Given the description of an element on the screen output the (x, y) to click on. 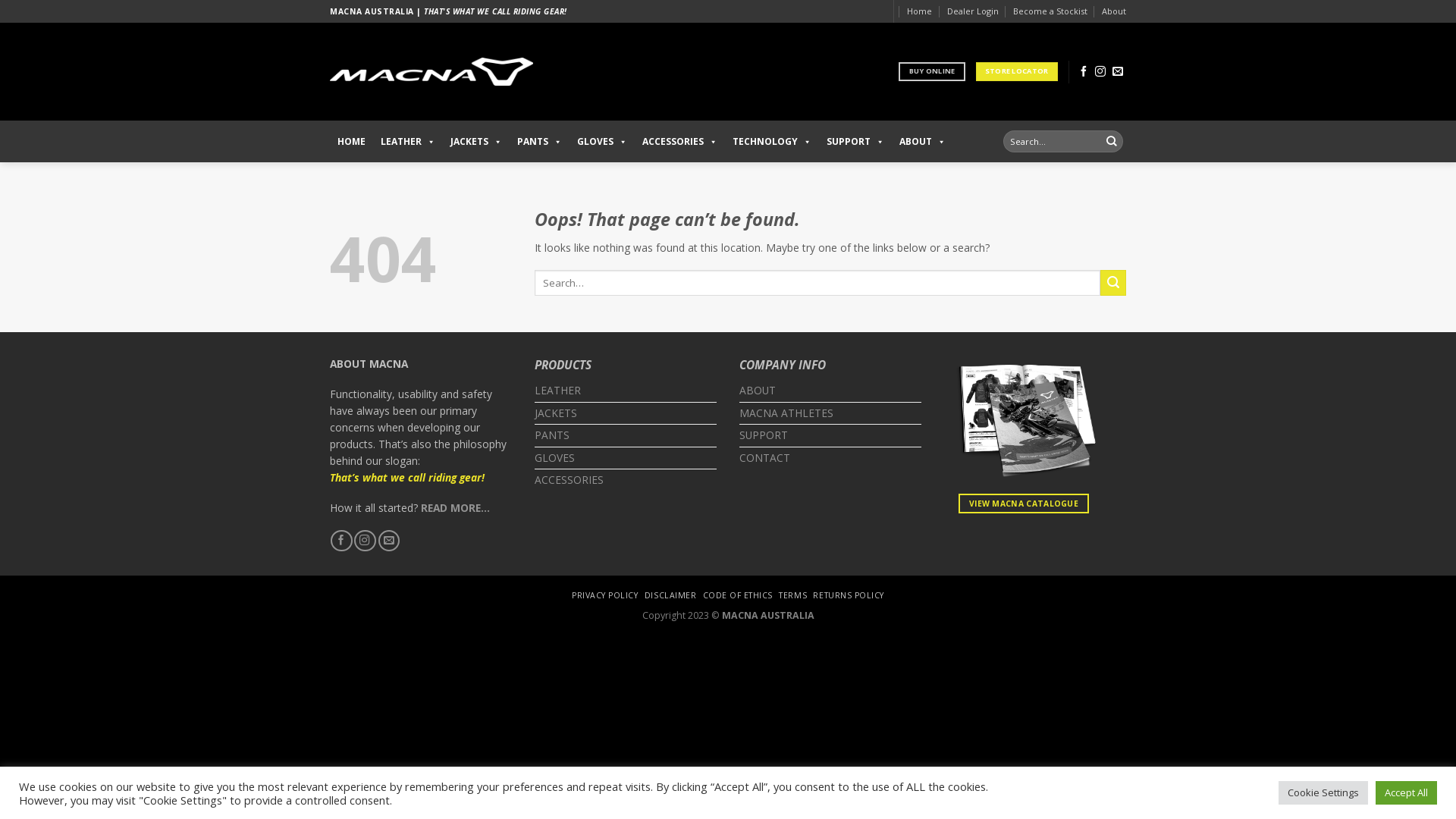
DISCLAIMER Element type: text (670, 594)
ABOUT Element type: text (922, 140)
SUPPORT Element type: text (763, 435)
Follow on Facebook Element type: hover (1083, 71)
VIEW MACNA CATALOGUE Element type: text (1023, 503)
PRIVACY POLICY Element type: text (604, 594)
Become a Stockist Element type: text (1050, 10)
CODE OF ETHICS Element type: text (737, 594)
ABOUT Element type: text (757, 390)
Send us an email Element type: hover (388, 541)
ACCESSORIES Element type: text (679, 140)
JACKETS Element type: text (555, 413)
GLOVES Element type: text (601, 140)
Send us an email Element type: hover (1117, 71)
HOME Element type: text (351, 140)
BUY ONLINE Element type: text (931, 71)
LEATHER Element type: text (557, 390)
Accept All Element type: text (1406, 792)
PANTS Element type: text (551, 435)
Follow on Instagram Element type: hover (364, 541)
SUPPORT Element type: text (855, 140)
JACKETS Element type: text (475, 140)
Cookie Settings Element type: text (1323, 792)
LEATHER Element type: text (407, 140)
GLOVES Element type: text (554, 458)
RETURNS POLICY Element type: text (847, 594)
CONTACT Element type: text (764, 458)
PANTS Element type: text (539, 140)
Macna Riding Gear Australia - Macna Riding Gear Australia Element type: hover (431, 71)
STORE LOCATOR Element type: text (1016, 71)
TECHNOLOGY Element type: text (771, 140)
Search Element type: text (1111, 141)
TERMS Element type: text (792, 594)
ACCESSORIES Element type: text (568, 480)
Dealer Login Element type: text (971, 10)
Home Element type: text (918, 10)
Follow on Facebook Element type: hover (340, 541)
Follow on Instagram Element type: hover (1100, 71)
About Element type: text (1113, 10)
Cracked Bulb Design Element type: text (756, 630)
MACNA ATHLETES Element type: text (786, 413)
